Given the description of an element on the screen output the (x, y) to click on. 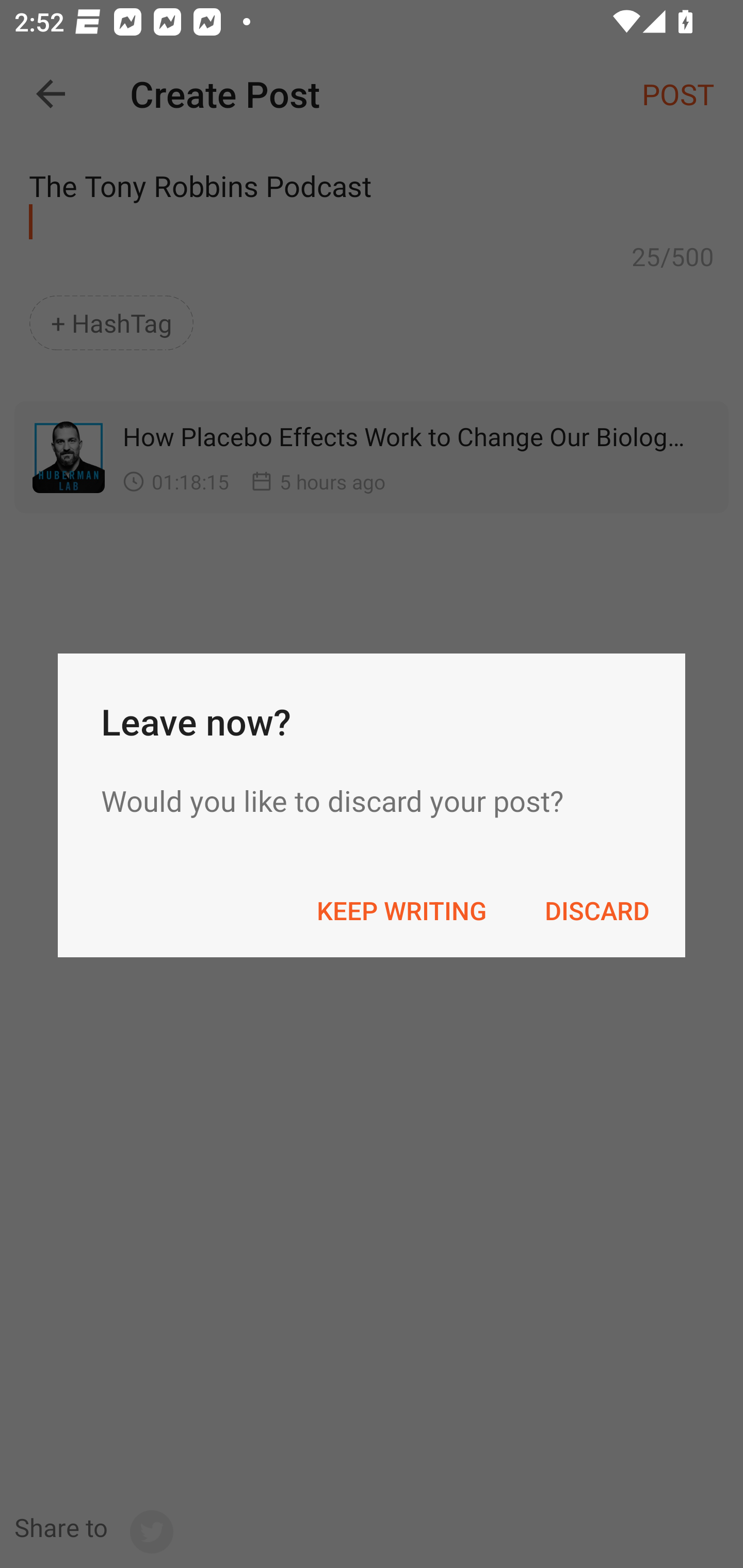
KEEP WRITING (401, 910)
DISCARD (596, 910)
